Given the description of an element on the screen output the (x, y) to click on. 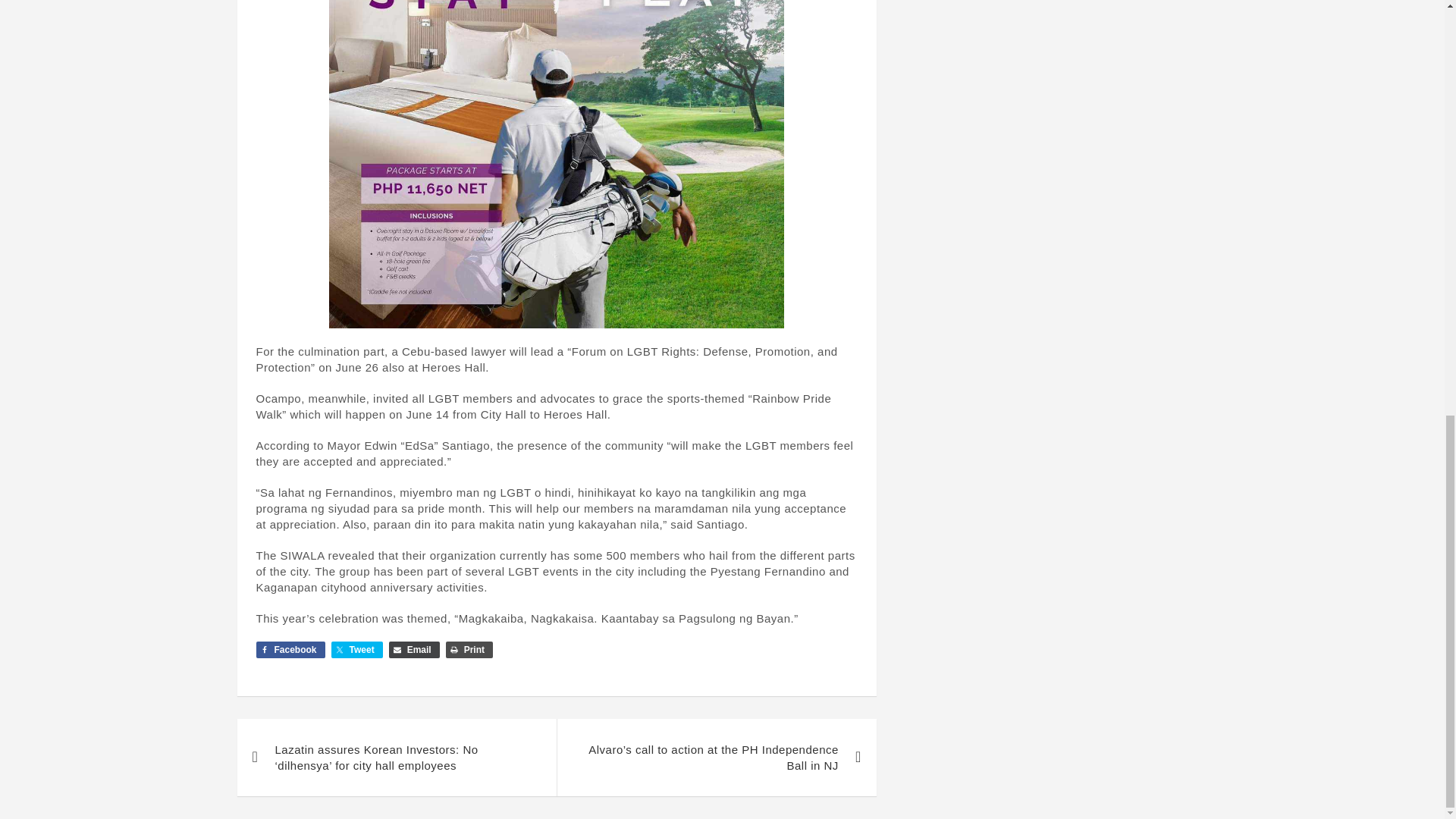
Share via Email (413, 649)
Share on Twitter (356, 649)
Email (413, 649)
Share on Facebook (290, 649)
Print this Page (469, 649)
